Given the description of an element on the screen output the (x, y) to click on. 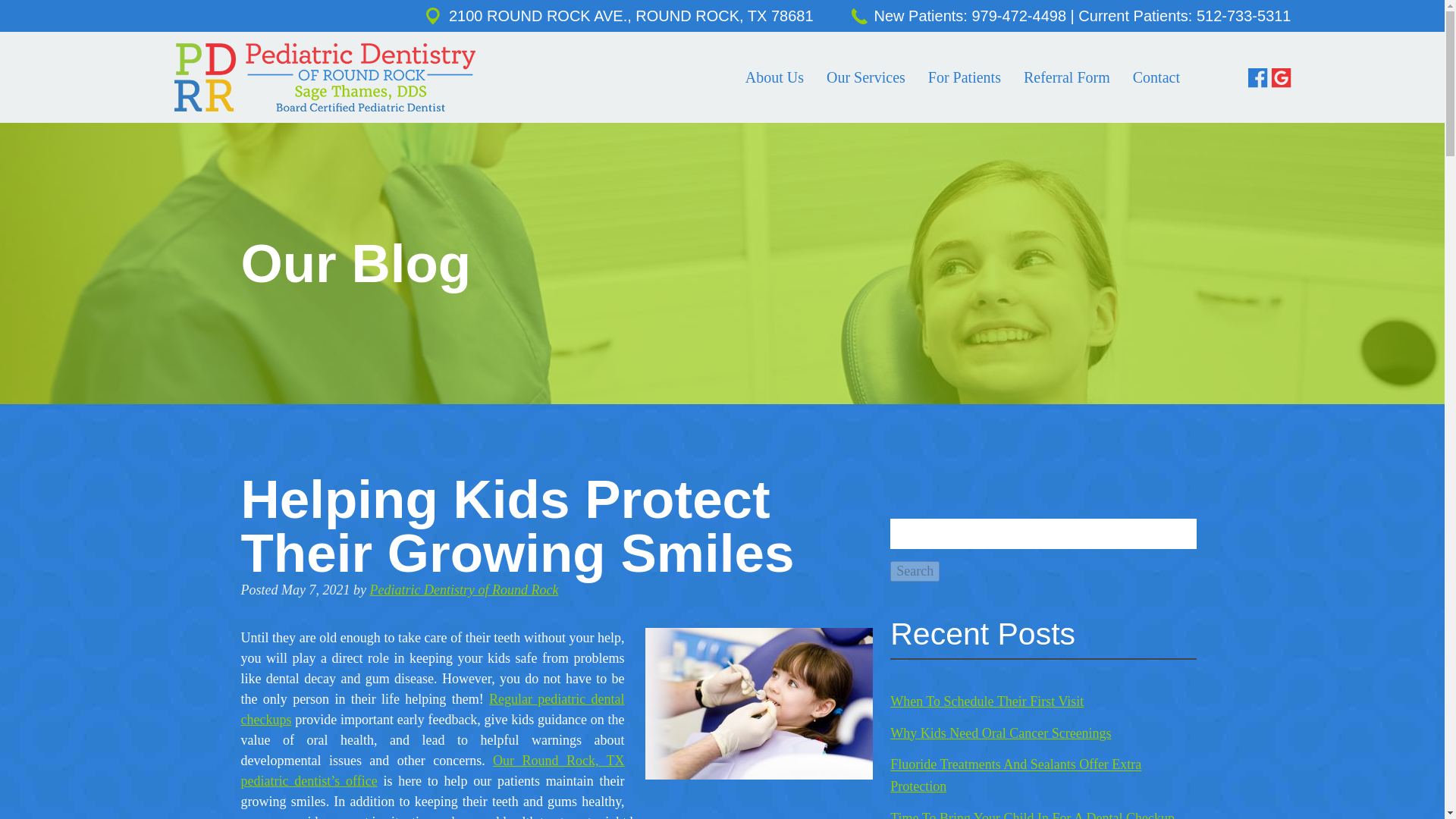
About Us (774, 76)
Our Services (866, 76)
